Given the description of an element on the screen output the (x, y) to click on. 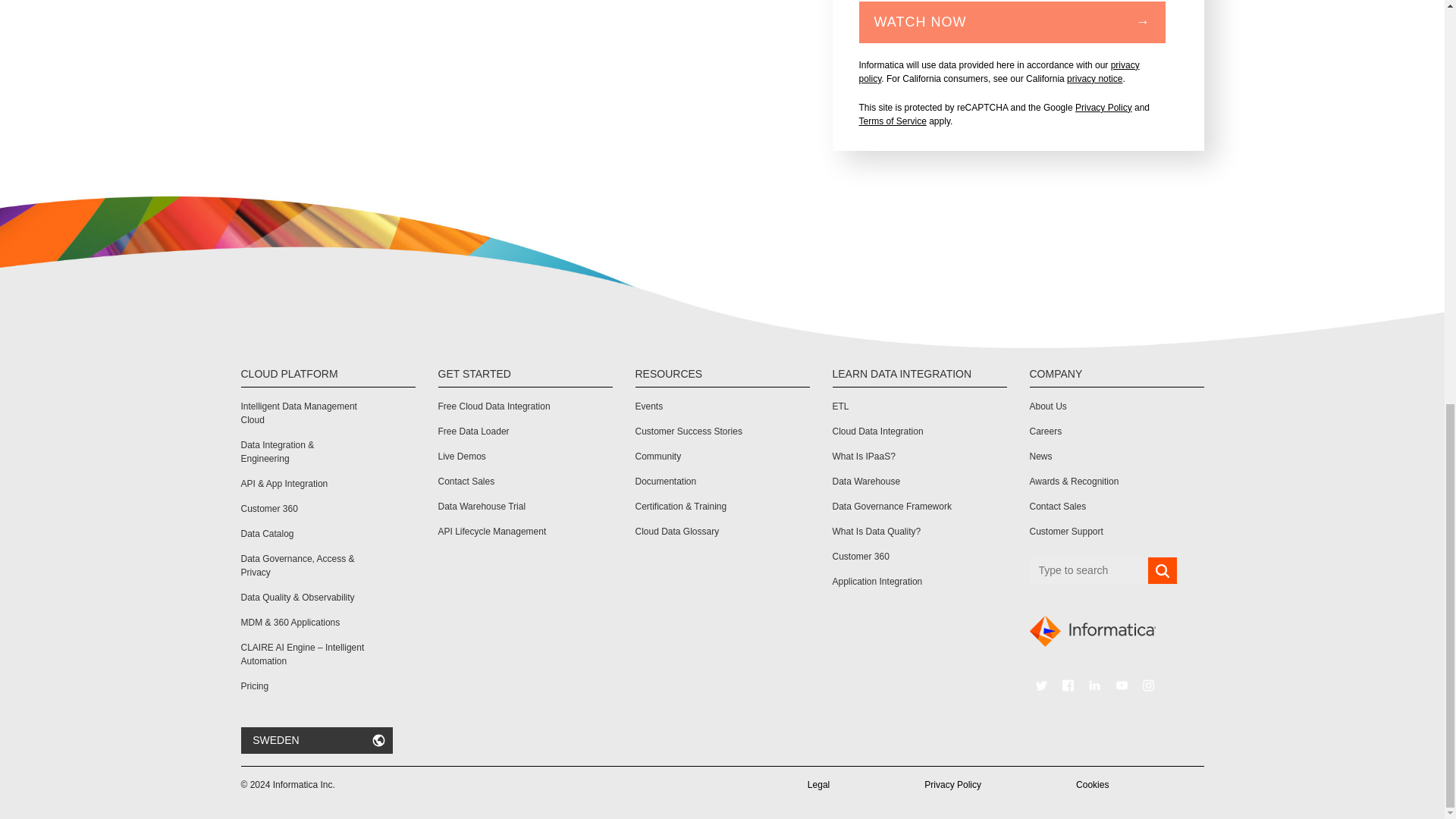
Insert a query. Press enter to send (1088, 570)
Terms of Service (892, 121)
Privacy Policy (1103, 107)
privacy policy (998, 71)
privacy notice (1094, 78)
Search (1162, 571)
